Given the description of an element on the screen output the (x, y) to click on. 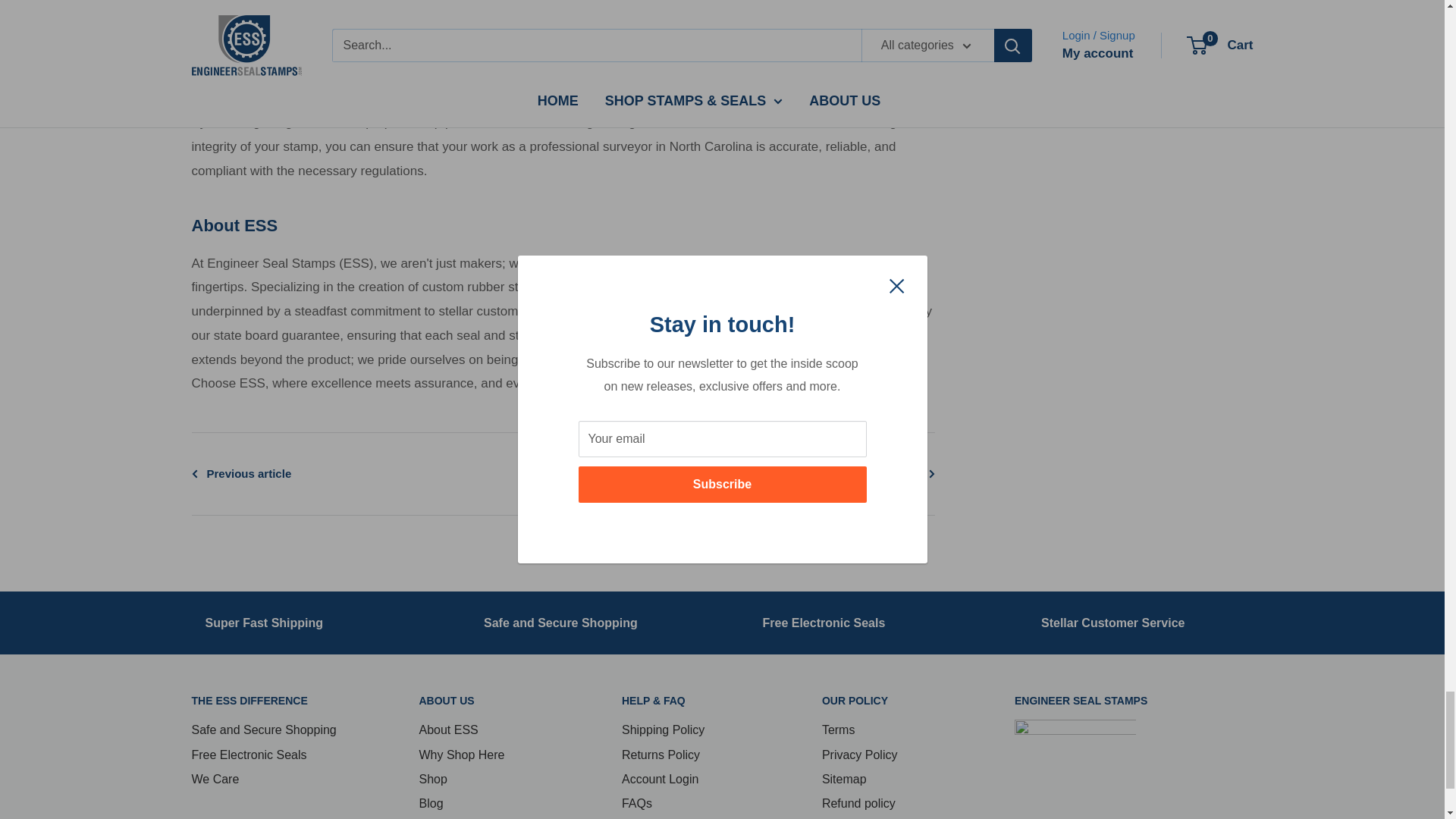
Free Electronic Seals (823, 622)
Super-Fast Shipping (264, 622)
Safe and Secure Shopping (560, 622)
Contact Us (1113, 622)
